Given the description of an element on the screen output the (x, y) to click on. 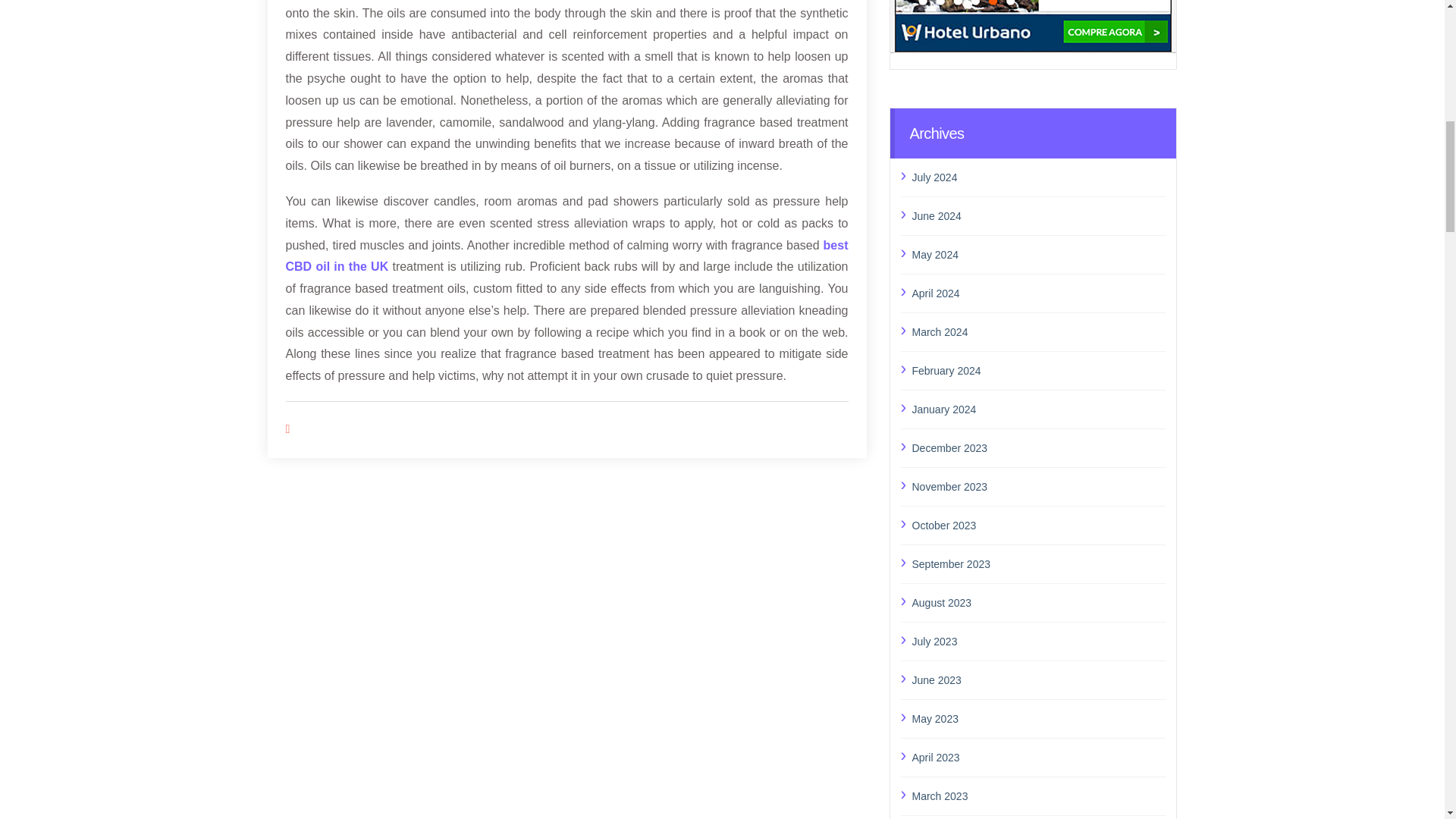
July 2023 (1038, 641)
January 2024 (1038, 409)
April 2024 (1038, 293)
July 2024 (1038, 177)
September 2023 (1038, 564)
March 2024 (1038, 332)
June 2023 (1038, 680)
December 2023 (1038, 447)
February 2024 (1038, 370)
October 2023 (1038, 525)
November 2023 (1038, 486)
August 2023 (1038, 602)
April 2023 (1038, 757)
best CBD oil in the UK (566, 255)
May 2023 (1038, 718)
